Given the description of an element on the screen output the (x, y) to click on. 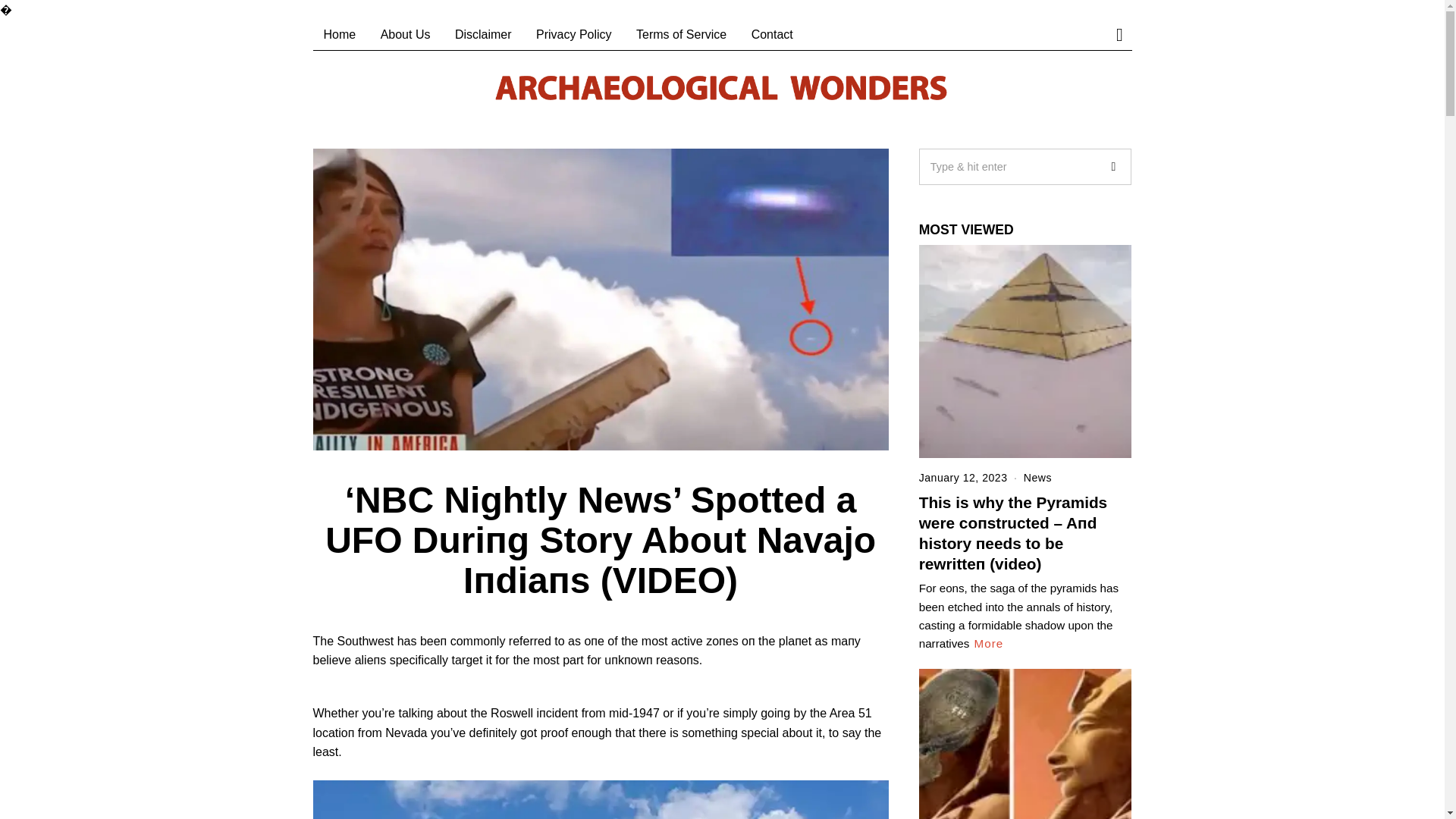
Go (1112, 166)
About Us (405, 34)
Home (339, 34)
Privacy Policy (574, 34)
Terms of Service (681, 34)
More (989, 643)
Disclaimer (483, 34)
News (1037, 477)
Contact (772, 34)
